Given the description of an element on the screen output the (x, y) to click on. 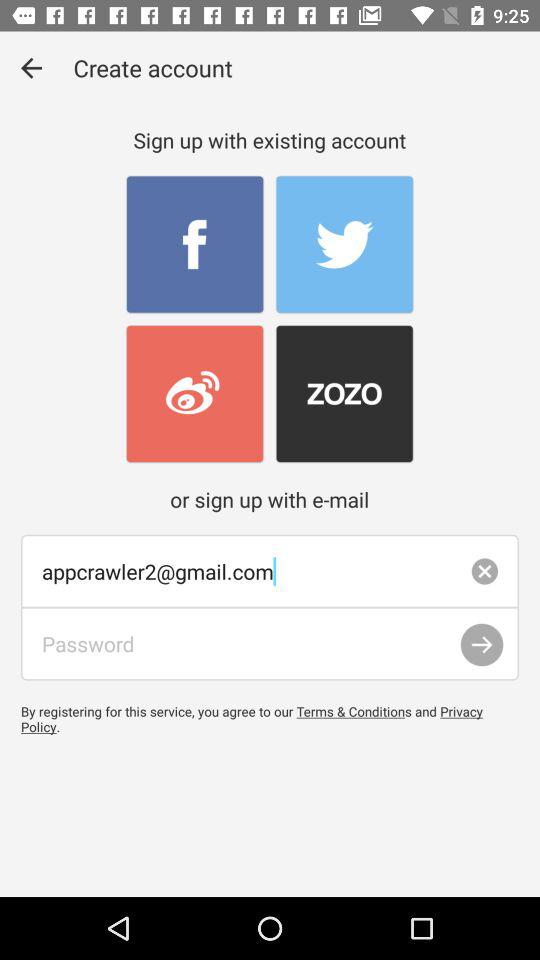
select the by registering for (270, 718)
